Given the description of an element on the screen output the (x, y) to click on. 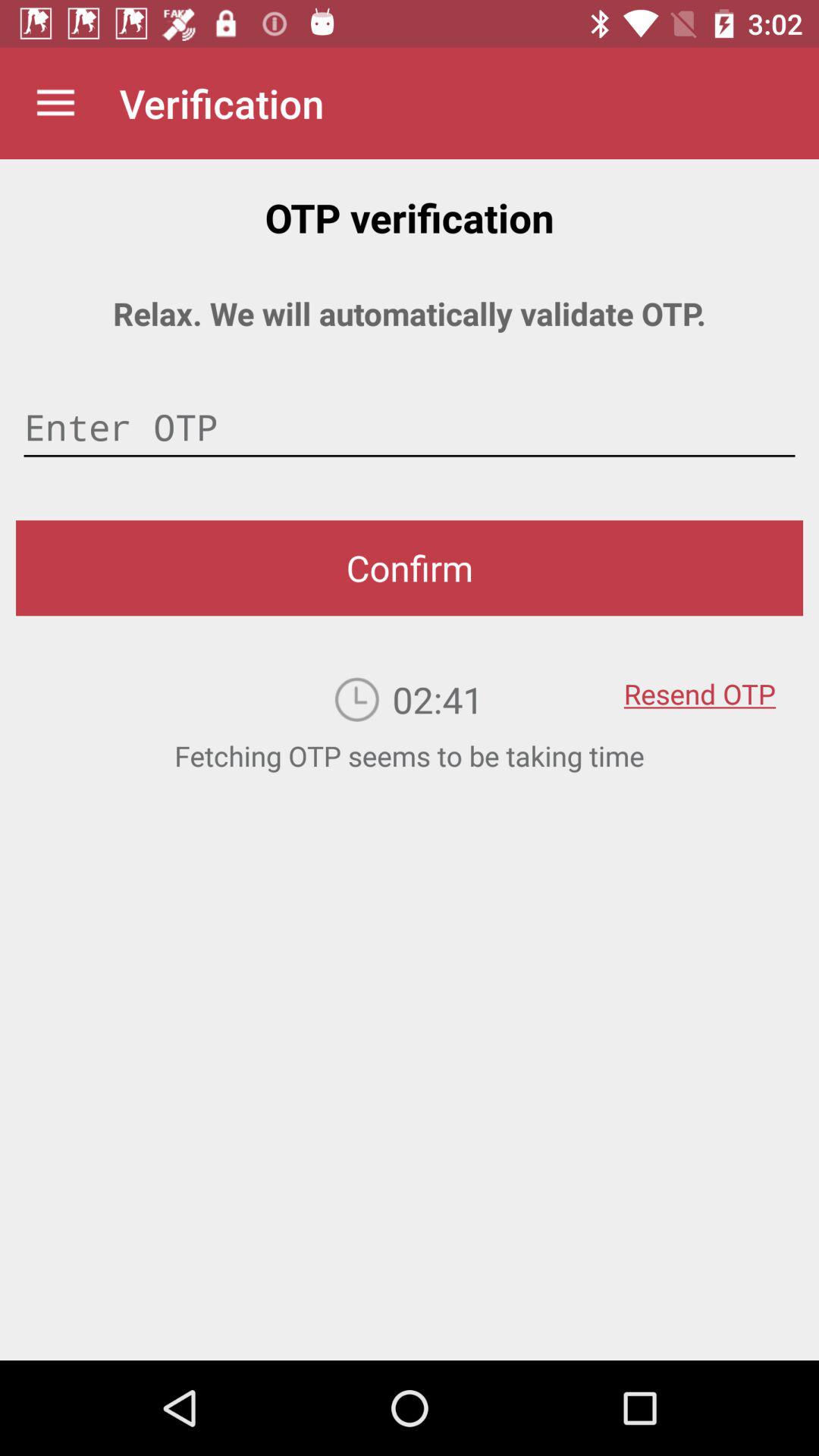
select the icon above fetching otp seems icon (699, 683)
